Given the description of an element on the screen output the (x, y) to click on. 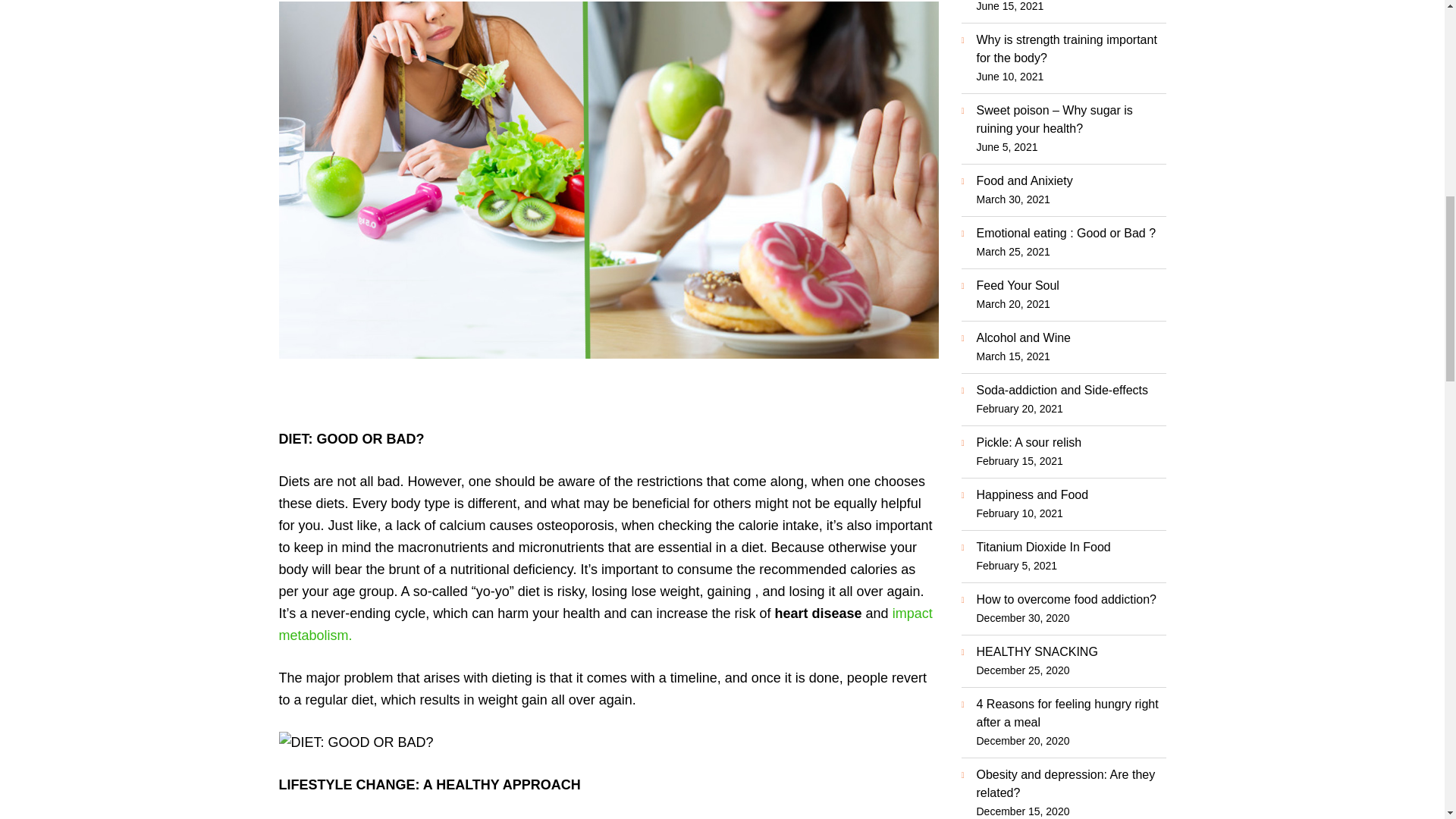
impact metabolism. (606, 624)
